Given the description of an element on the screen output the (x, y) to click on. 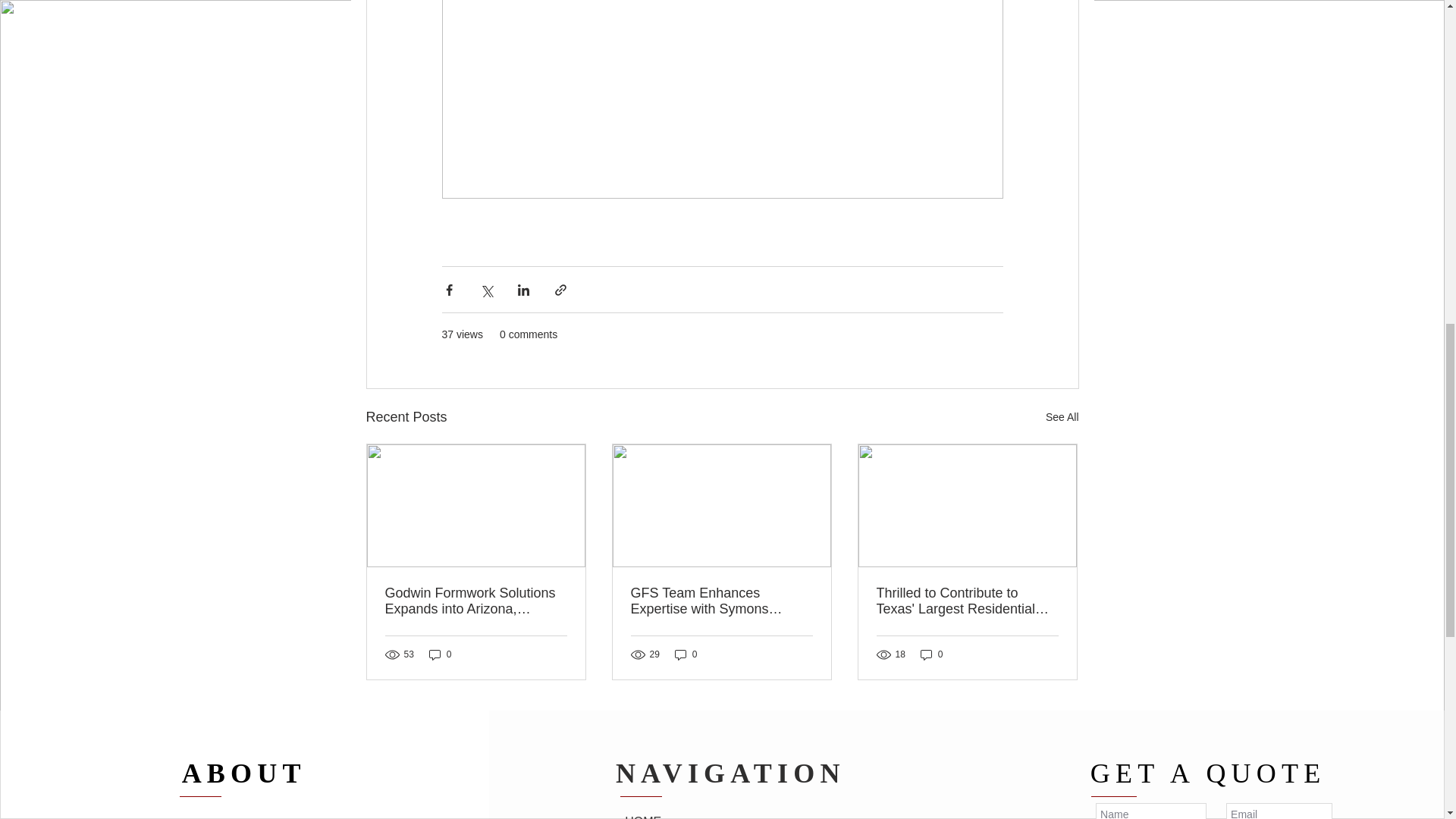
0 (440, 654)
See All (1061, 417)
0 (685, 654)
